Given the description of an element on the screen output the (x, y) to click on. 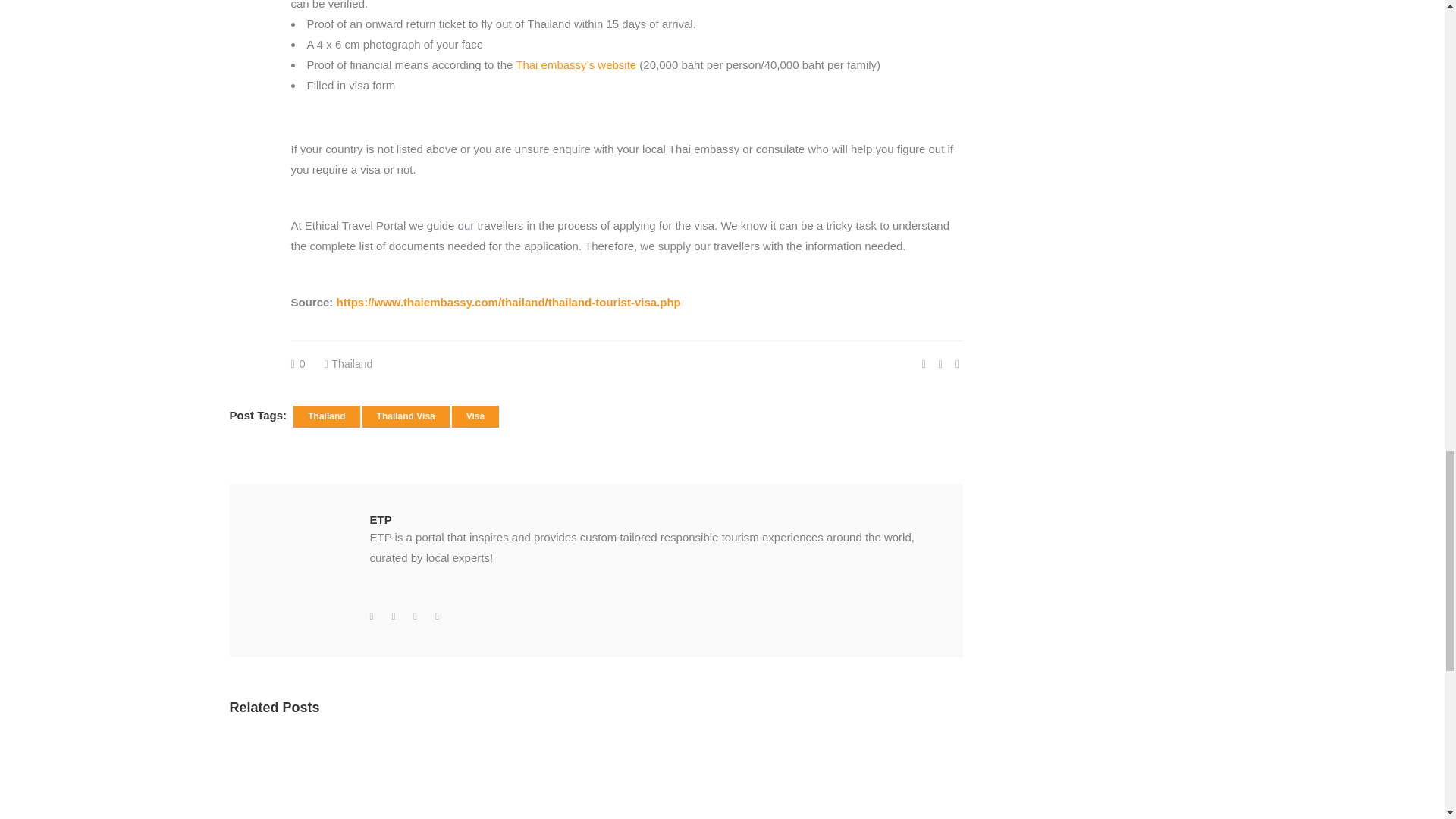
Like this (298, 363)
